Given the description of an element on the screen output the (x, y) to click on. 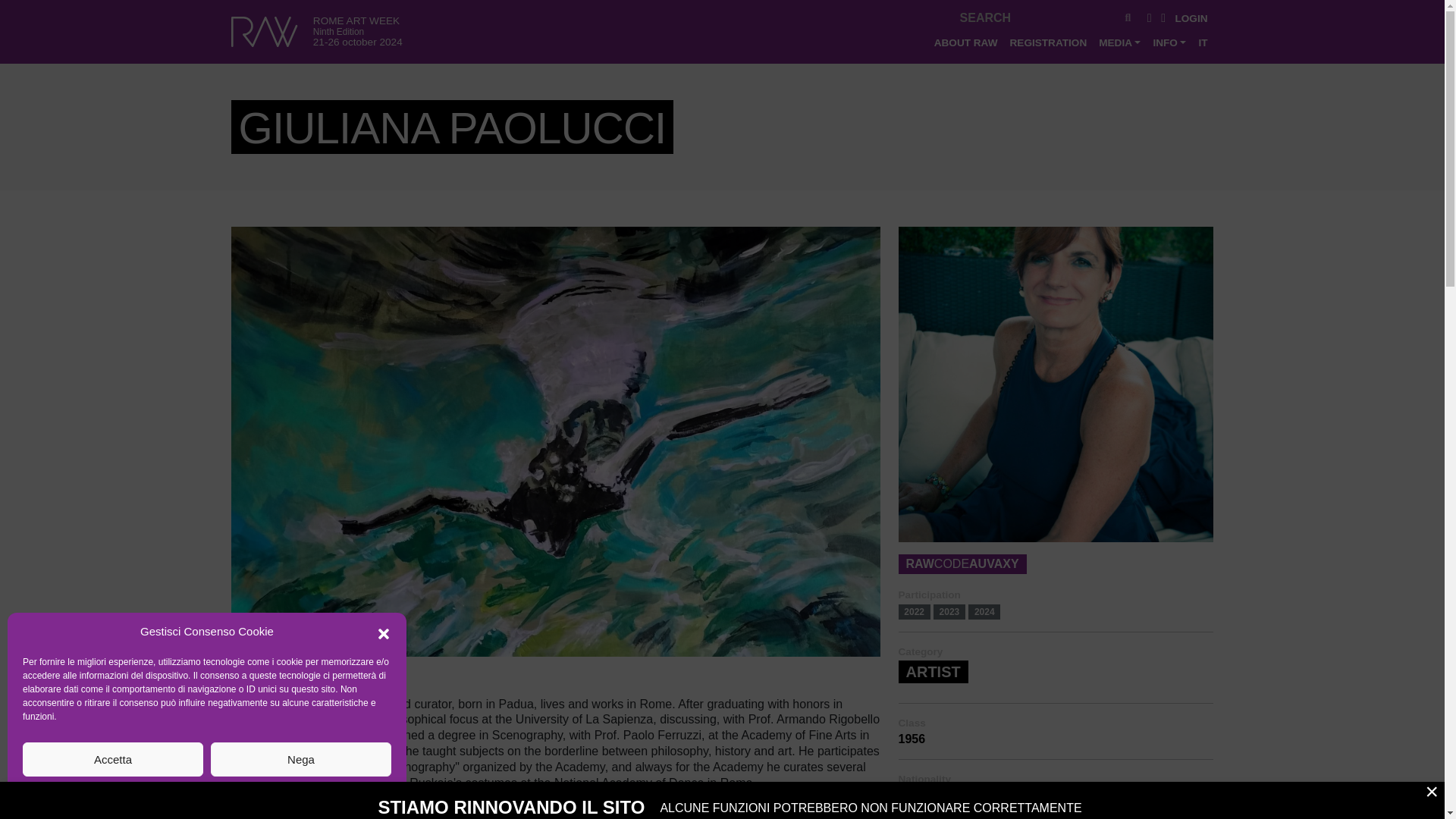
Nega (301, 759)
Giuliana Paolucci (1055, 389)
Privacy Policy (237, 791)
Cookie Policy (174, 791)
LOGIN (1190, 17)
MEDIA (1120, 43)
INFO (1169, 43)
REGISTRATION (1048, 43)
Accetta (113, 759)
ABOUT RAW (966, 43)
Giuliana Paolucci (554, 446)
